Given the description of an element on the screen output the (x, y) to click on. 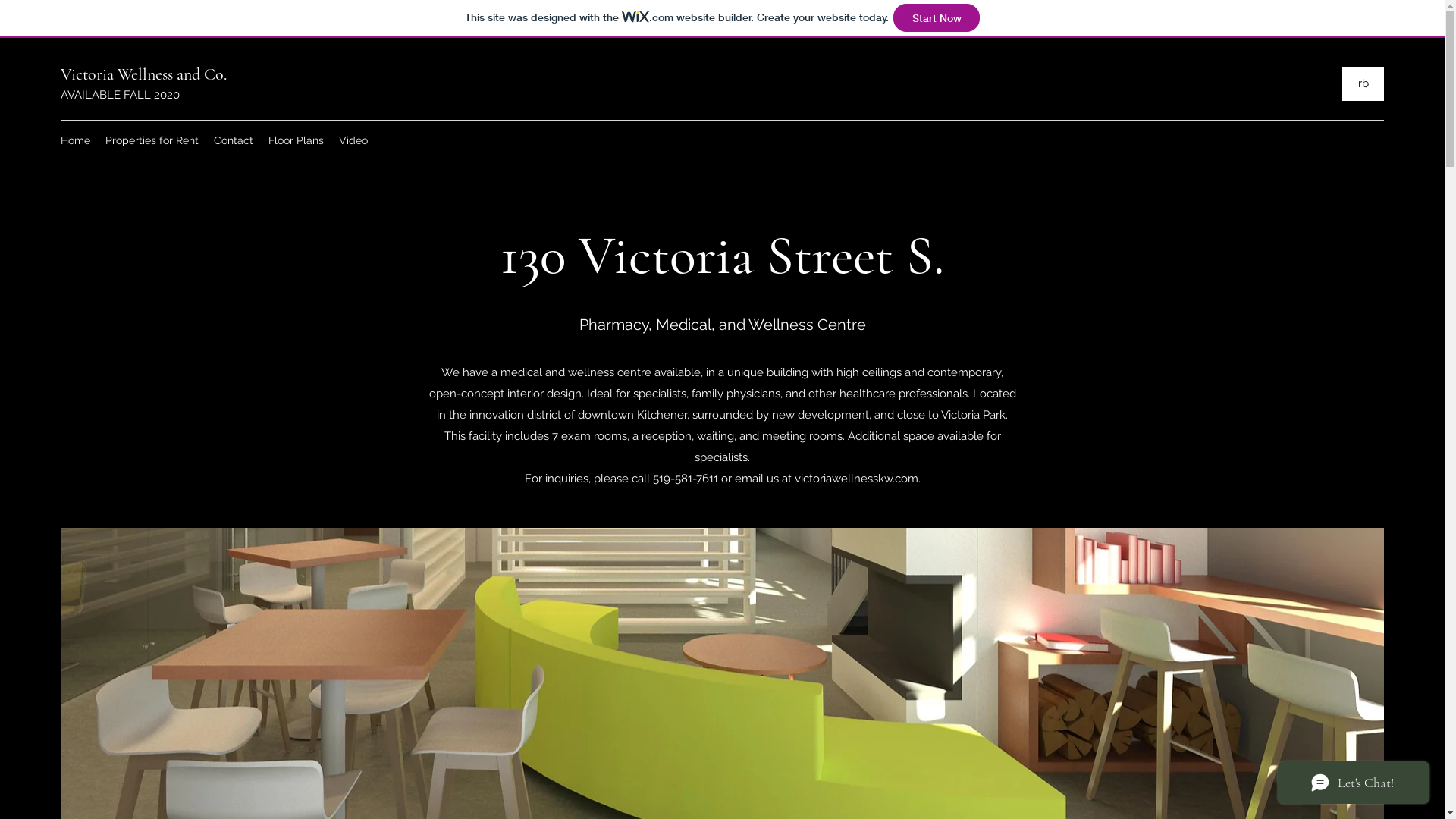
Video Element type: text (353, 139)
Home Element type: text (75, 139)
Floor Plans Element type: text (295, 139)
rb Element type: text (1362, 83)
Contact Element type: text (233, 139)
Properties for Rent Element type: text (151, 139)
